Given the description of an element on the screen output the (x, y) to click on. 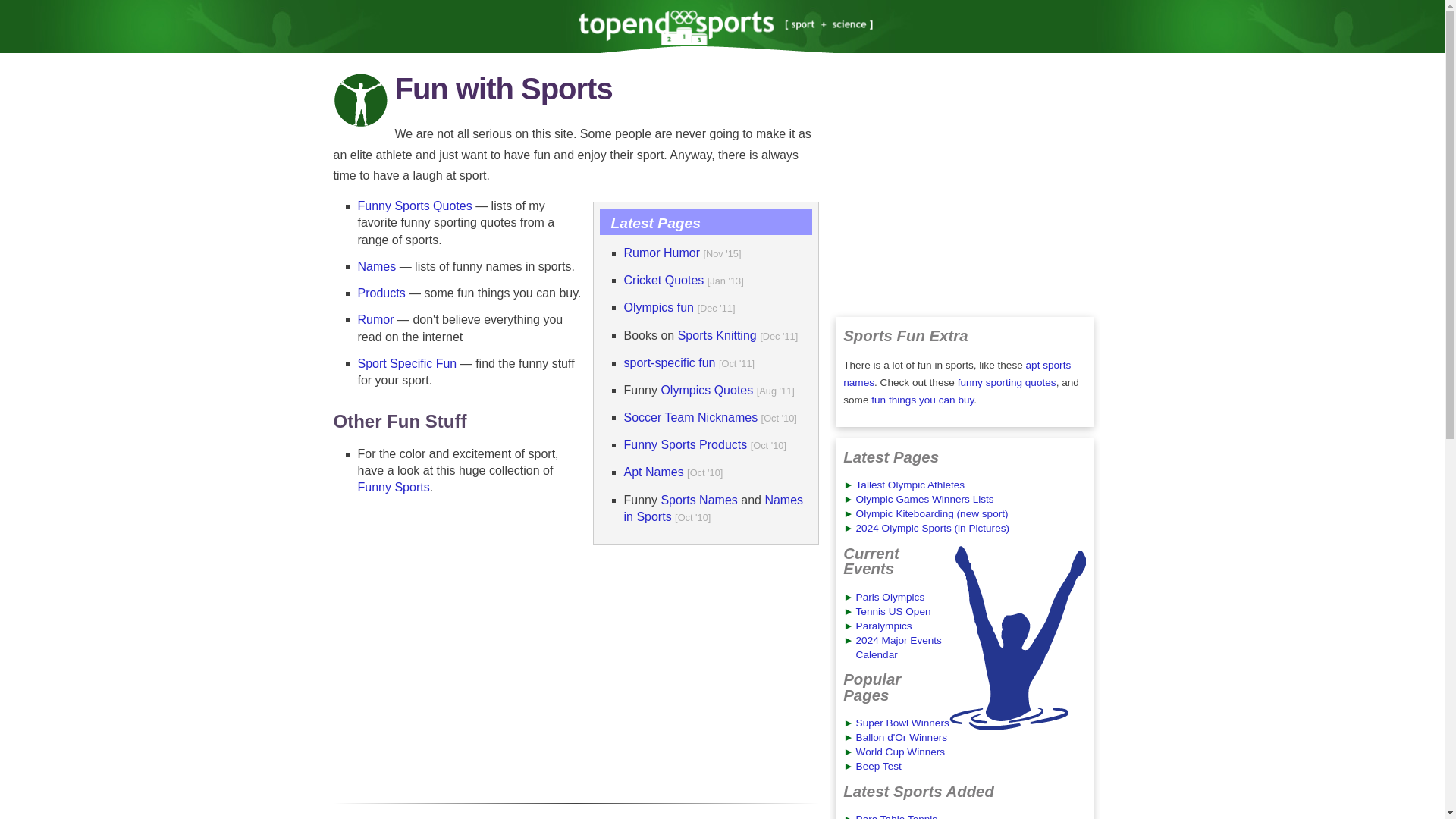
Olympics Quotes (706, 390)
Rumor (376, 318)
Rumor Humor (660, 252)
apt sports names (956, 373)
Names in Sports (713, 508)
Sports Knitting (717, 335)
fun things you can buy (922, 399)
Names (377, 266)
Sports Names (698, 499)
Funny Sports Quotes (414, 205)
Olympic Games Winners Lists (925, 499)
Paris Olympics (890, 596)
Soccer Team Nicknames (690, 417)
Sport Specific Fun (407, 363)
Tallest Olympic Athletes (910, 484)
